Given the description of an element on the screen output the (x, y) to click on. 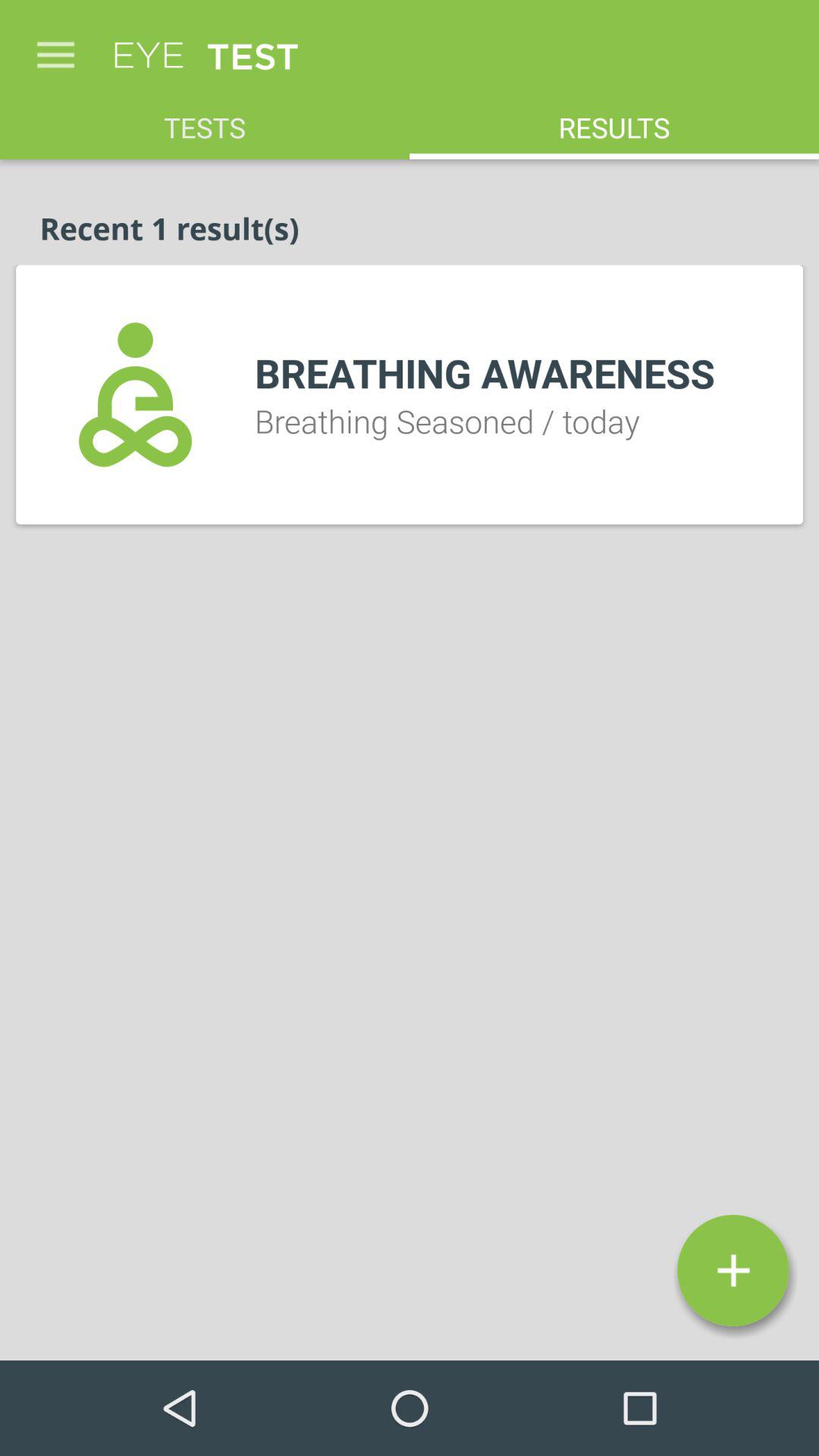
turn off item above the breathing awareness (614, 119)
